Given the description of an element on the screen output the (x, y) to click on. 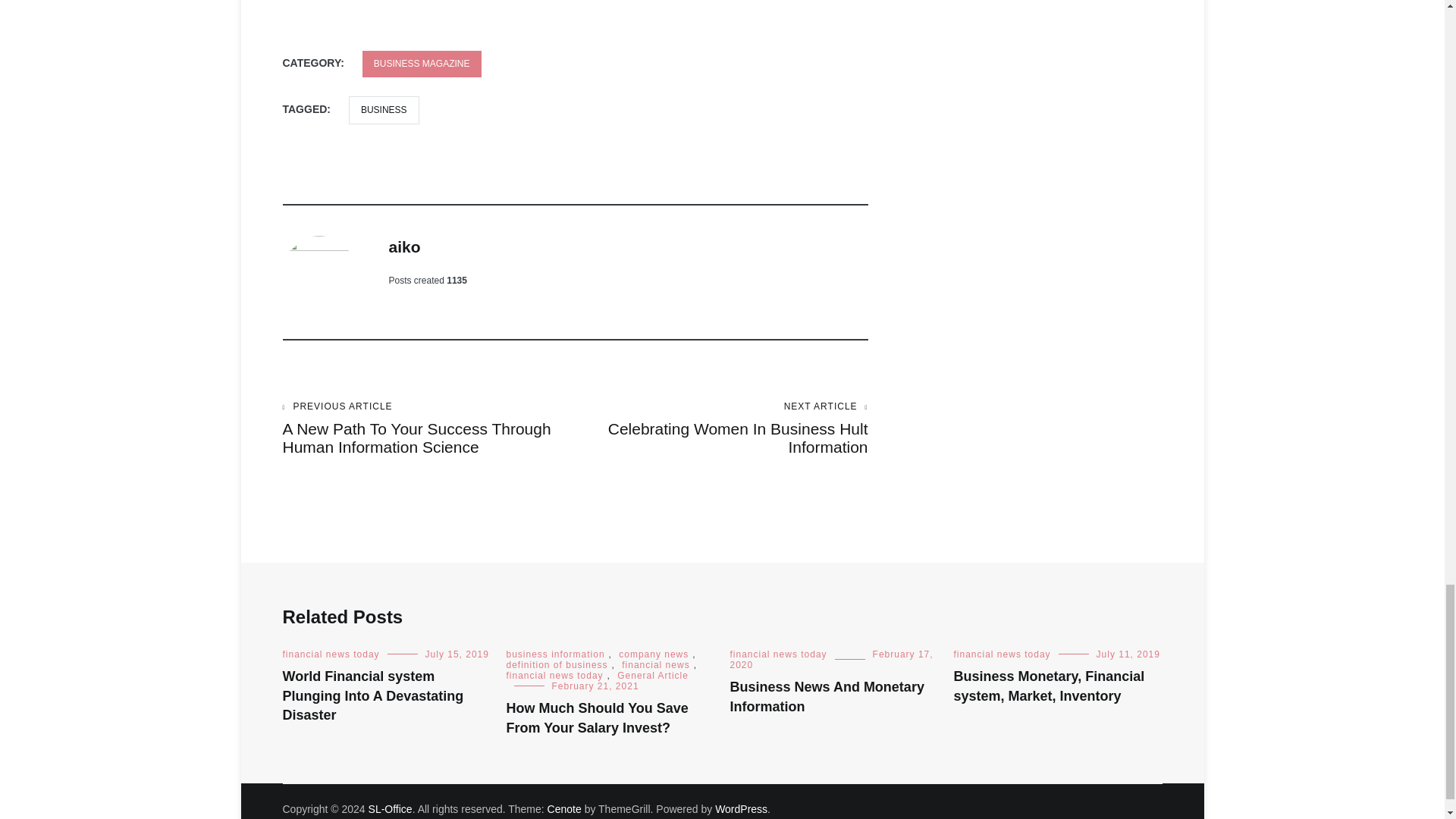
SL-Office (390, 808)
Posts by aiko (404, 246)
